Given the description of an element on the screen output the (x, y) to click on. 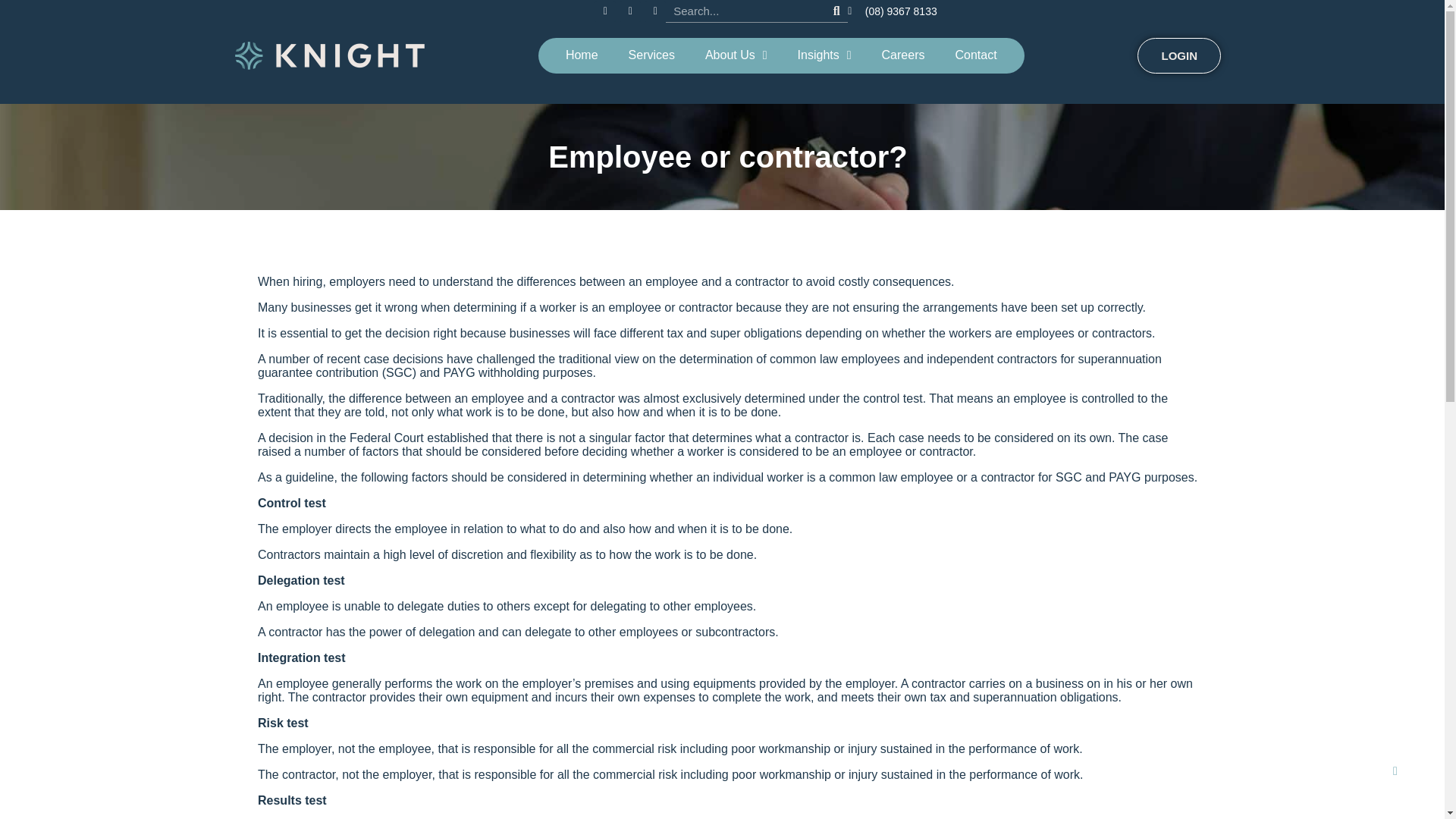
Insights (824, 54)
Contact (975, 54)
LOGIN (1179, 55)
About Us (736, 54)
Careers (903, 54)
Services (651, 54)
Home (581, 54)
